Given the description of an element on the screen output the (x, y) to click on. 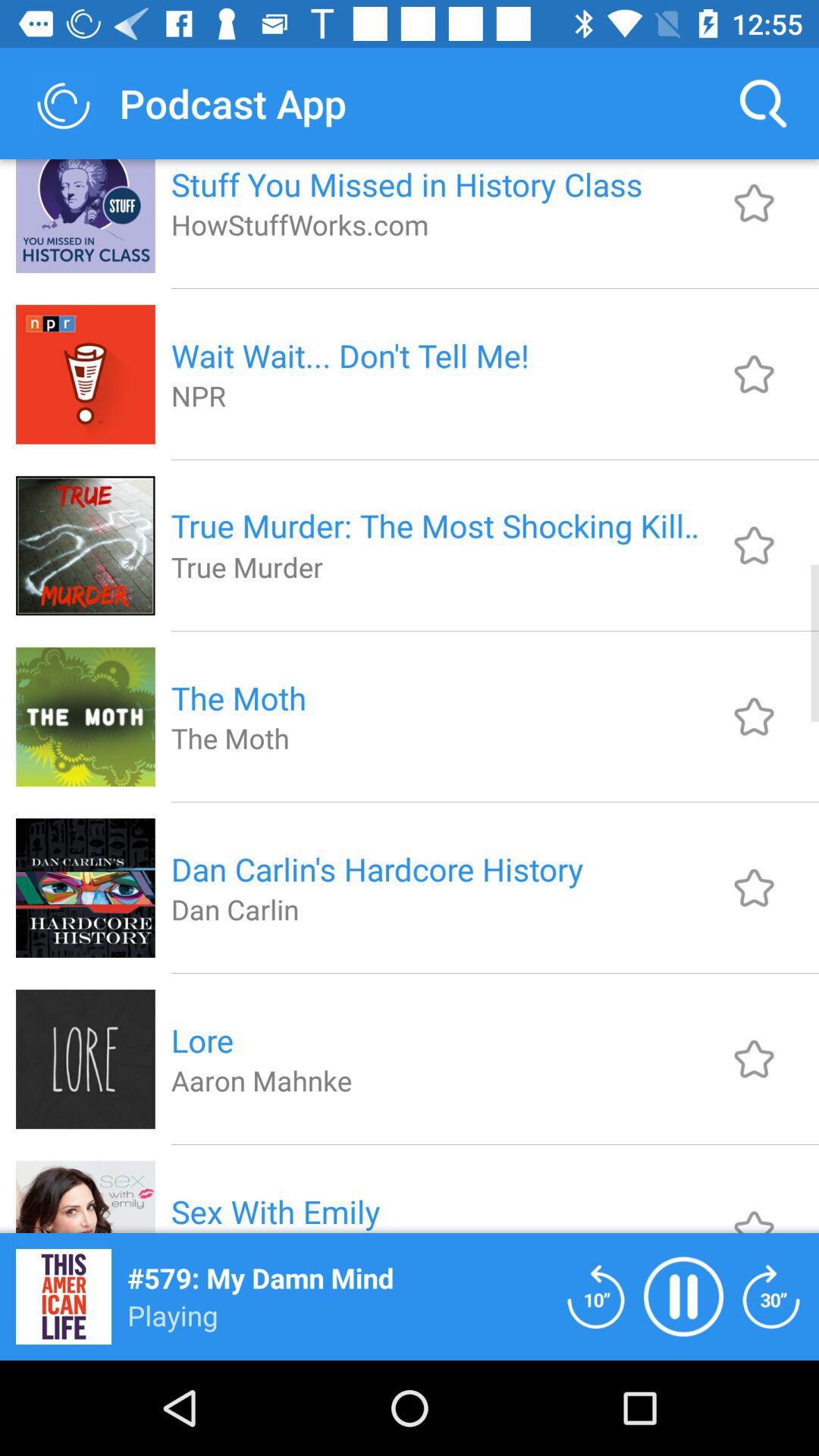
makes favorite item (754, 1058)
